Given the description of an element on the screen output the (x, y) to click on. 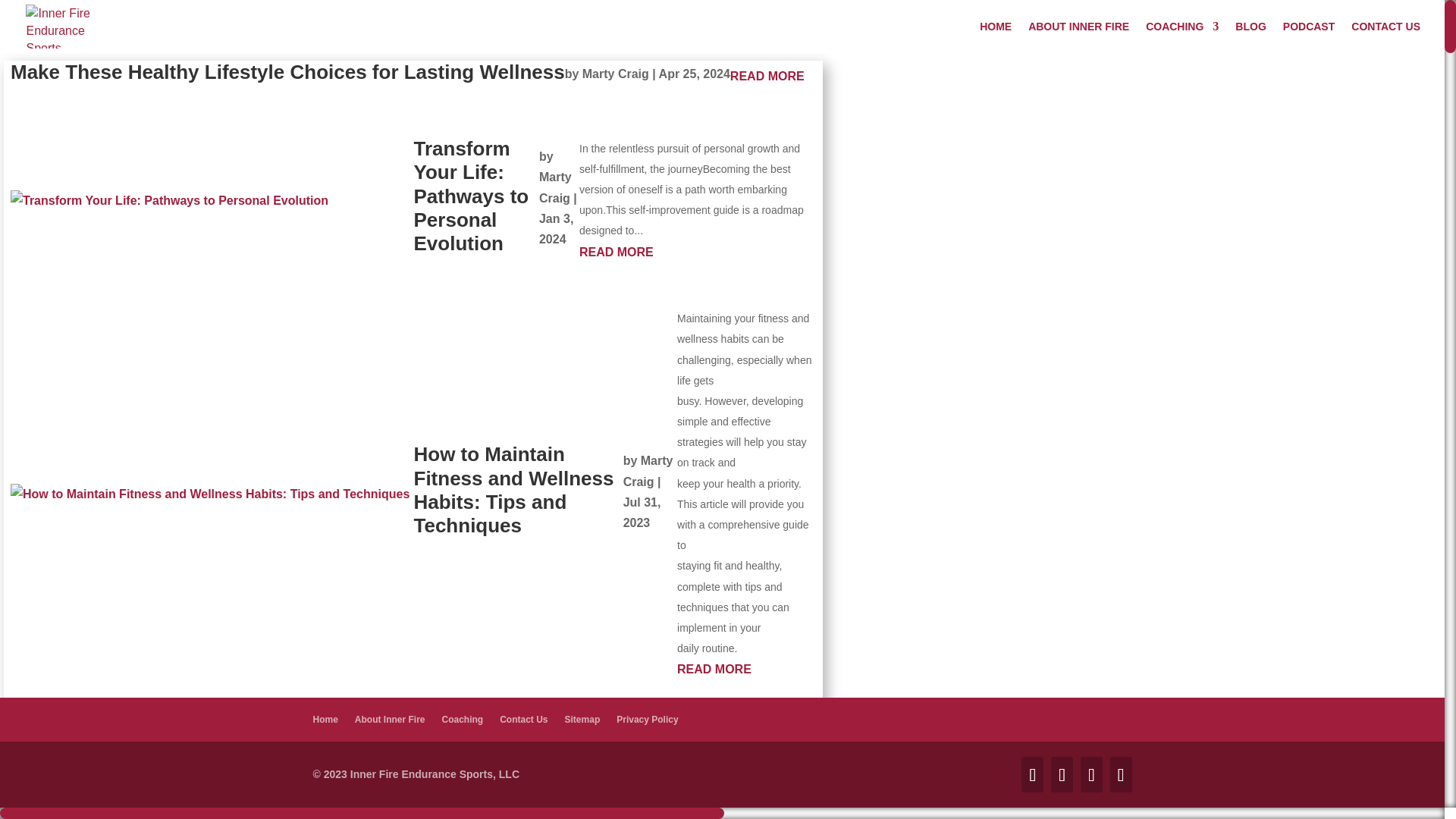
COACHING (1181, 37)
Marty Craig (647, 470)
Marty Craig (615, 73)
Marty Craig (555, 186)
Make These Healthy Lifestyle Choices for Lasting Wellness (287, 71)
HOME (995, 37)
Posts by Marty Craig (647, 470)
The Long Haul 100 Ultramarathon Experience (480, 778)
Transform Your Life: Pathways to Personal Evolution (471, 195)
READ MORE (697, 251)
PODCAST (1308, 37)
Posts by Marty Craig (555, 186)
READ MORE (767, 76)
BLOG (1249, 37)
